Given the description of an element on the screen output the (x, y) to click on. 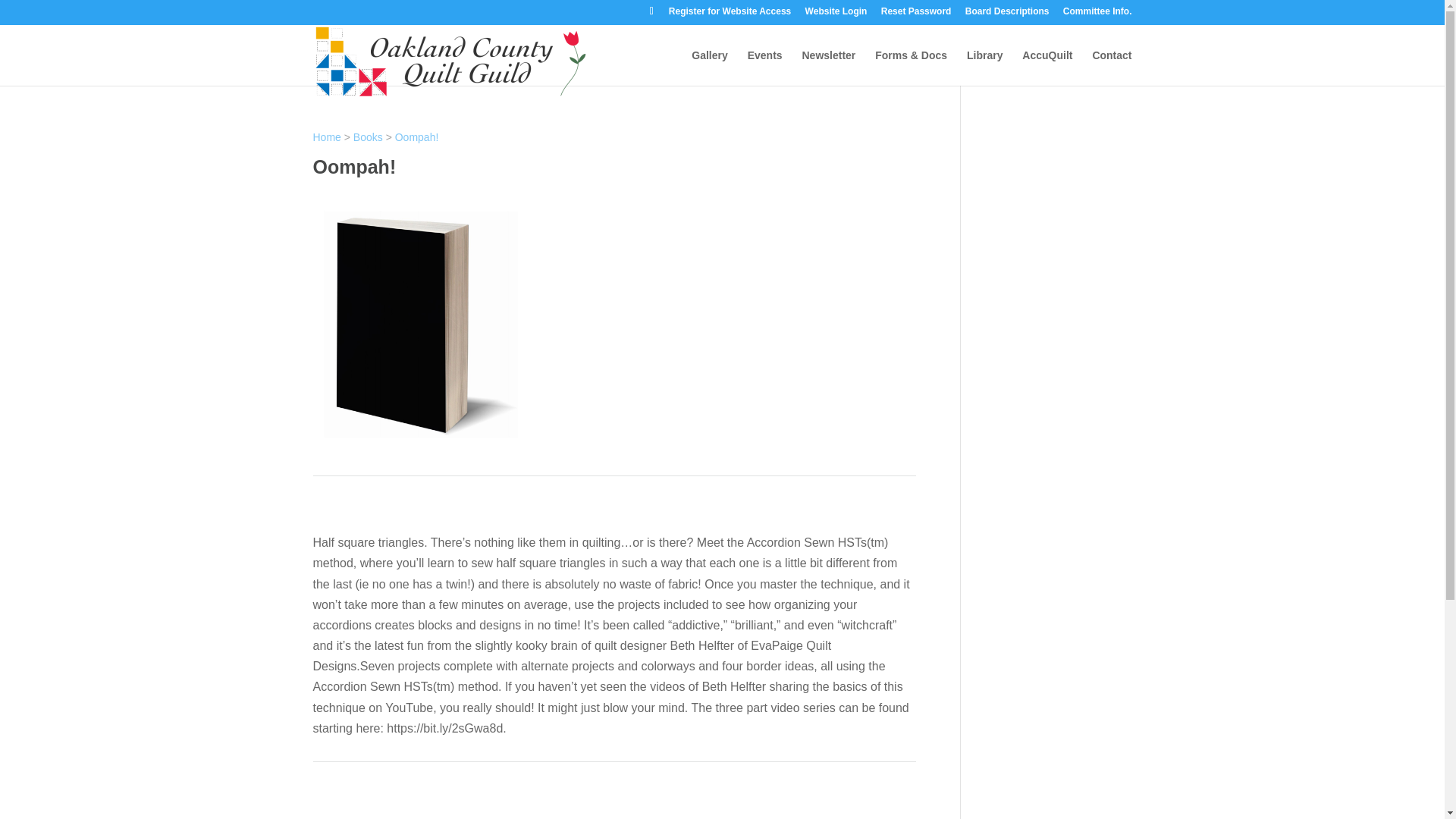
Oompah! (416, 137)
Committee Info. (1097, 14)
Gallery (708, 67)
Books (367, 137)
Contact (1111, 67)
Events (765, 67)
Website Login (836, 14)
Library (984, 67)
Reset Password (916, 14)
Home (326, 137)
Register for Website Access (729, 14)
Board Descriptions (1007, 14)
AccuQuilt (1046, 67)
Newsletter (829, 67)
